Given the description of an element on the screen output the (x, y) to click on. 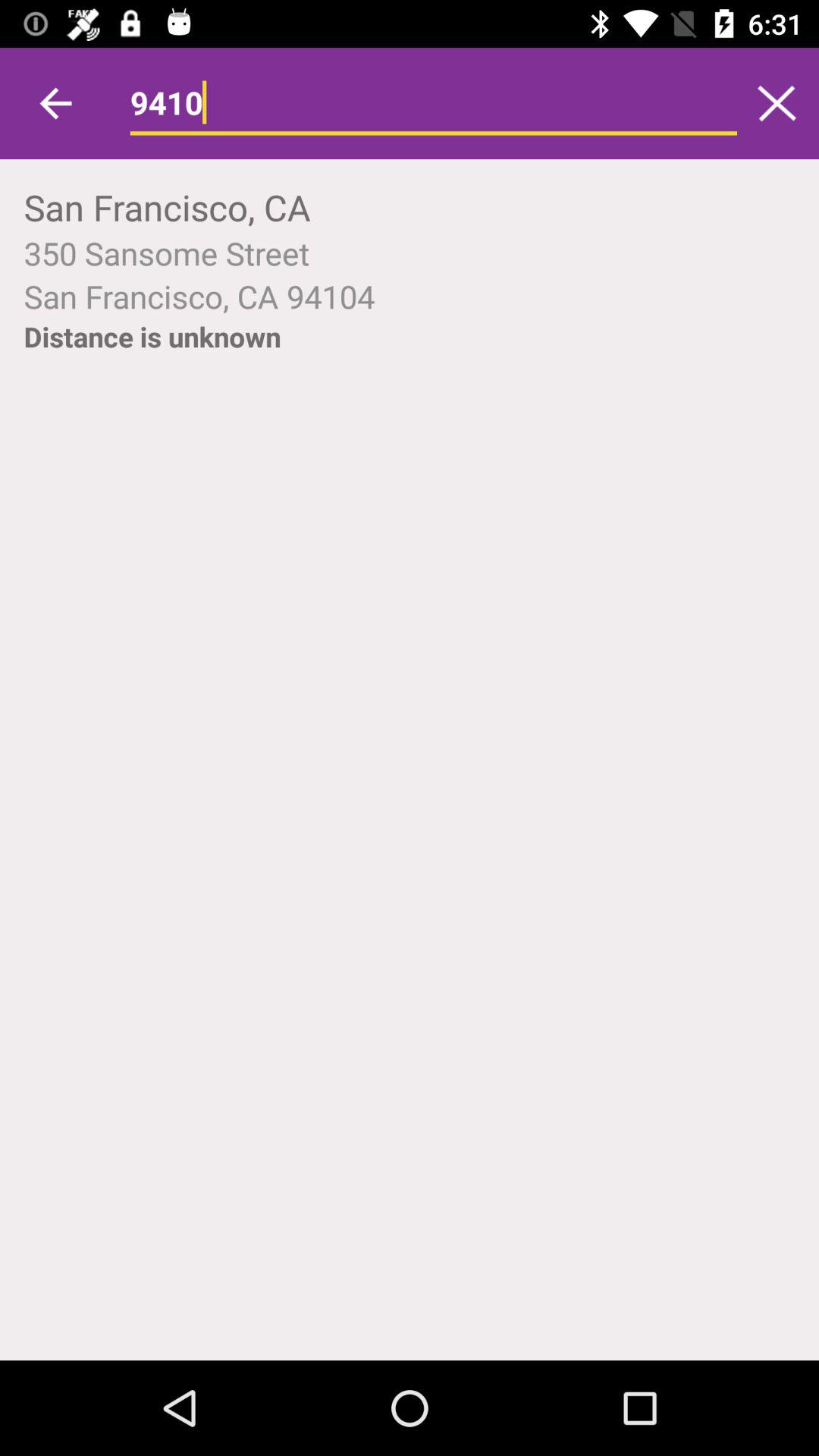
delete entered text (776, 103)
